Given the description of an element on the screen output the (x, y) to click on. 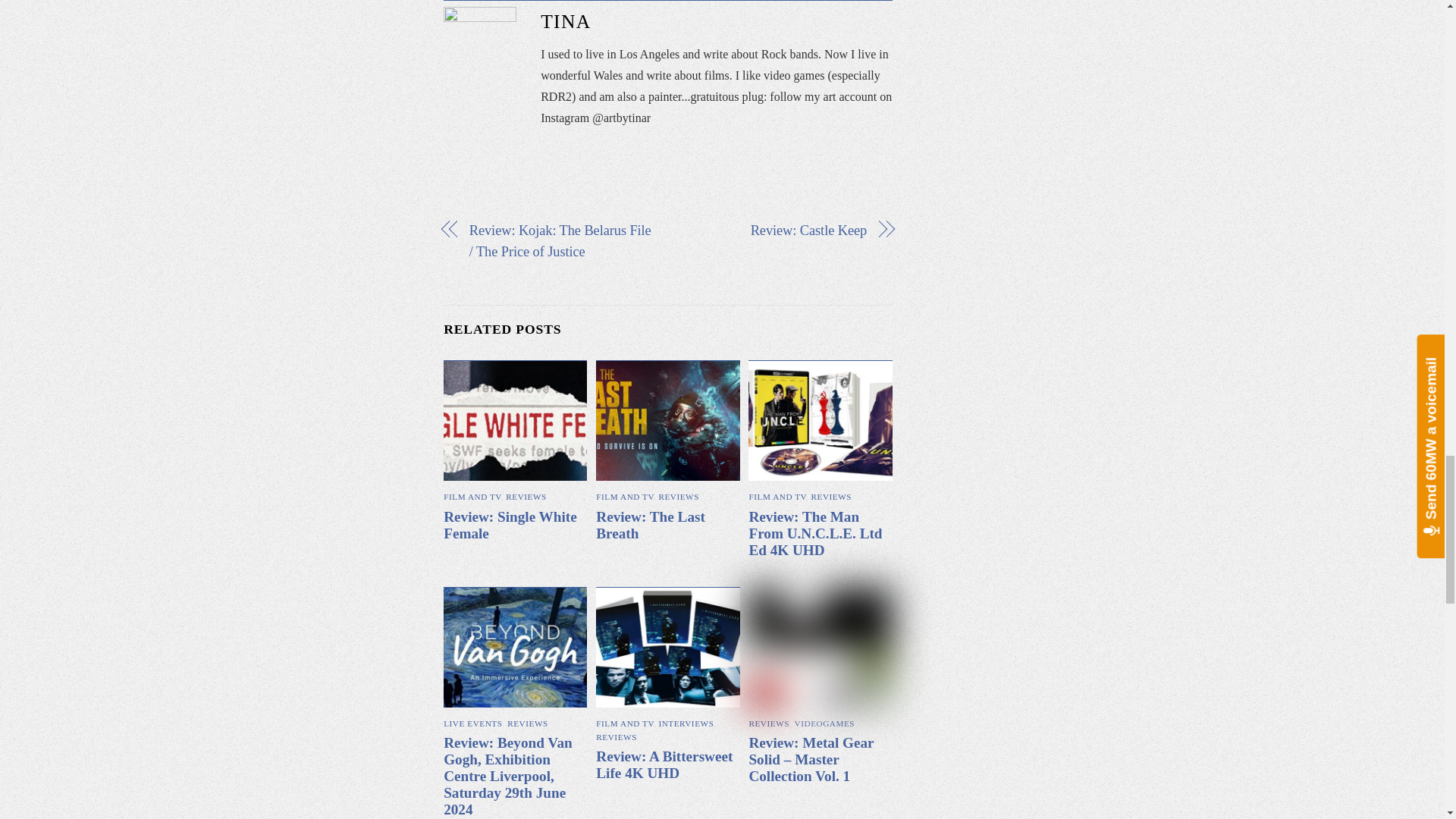
HeaderSWFReview (515, 420)
HeaderTheLastBreathReview (667, 420)
HeaderMGSVol1Review (819, 647)
HeaderBeyondVanGoghReview (515, 647)
HeaderABittersweetLife4KReview (667, 647)
HeaderTMFUReview (819, 420)
